Given the description of an element on the screen output the (x, y) to click on. 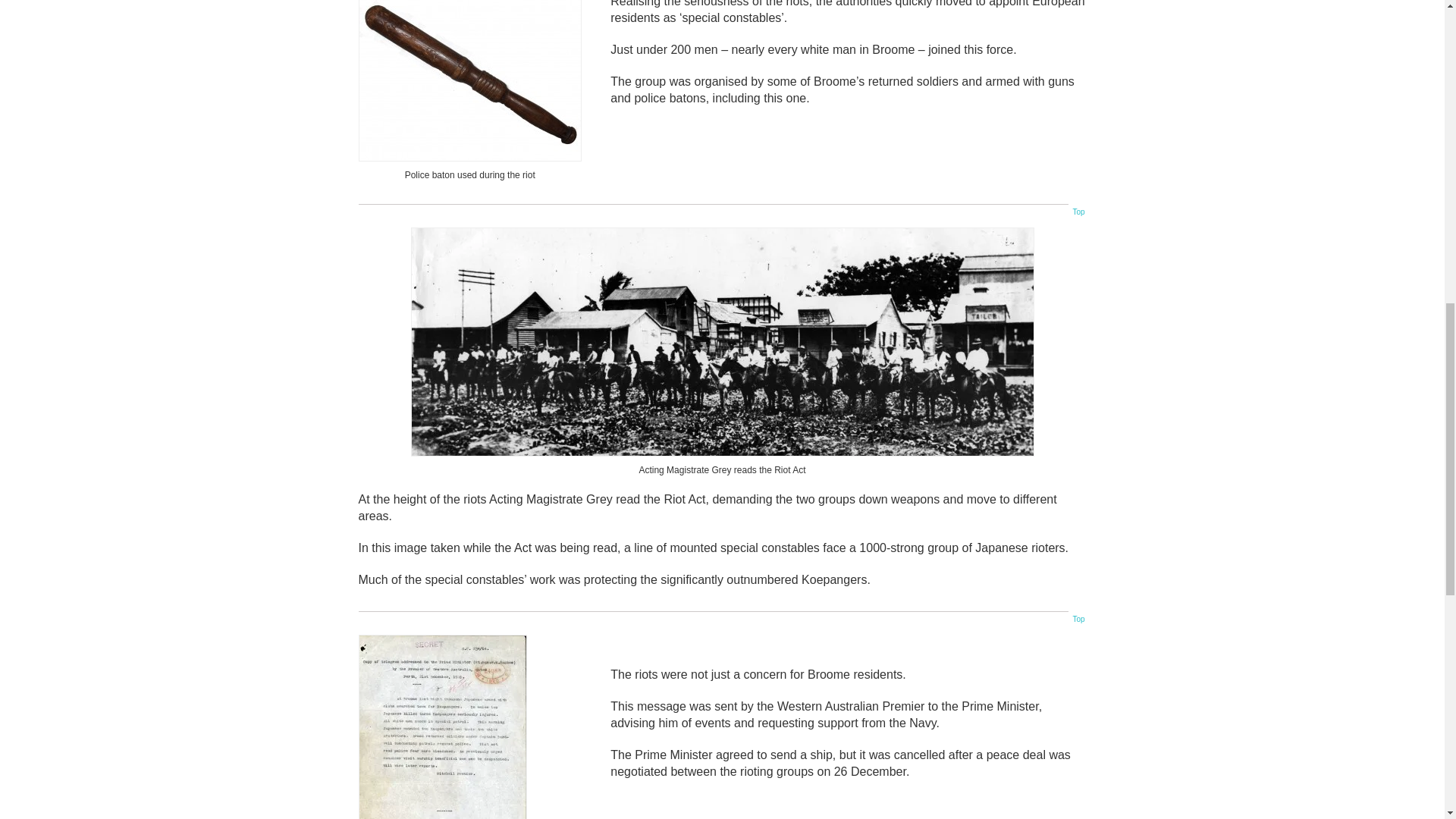
Police Baton (469, 80)
